Given the description of an element on the screen output the (x, y) to click on. 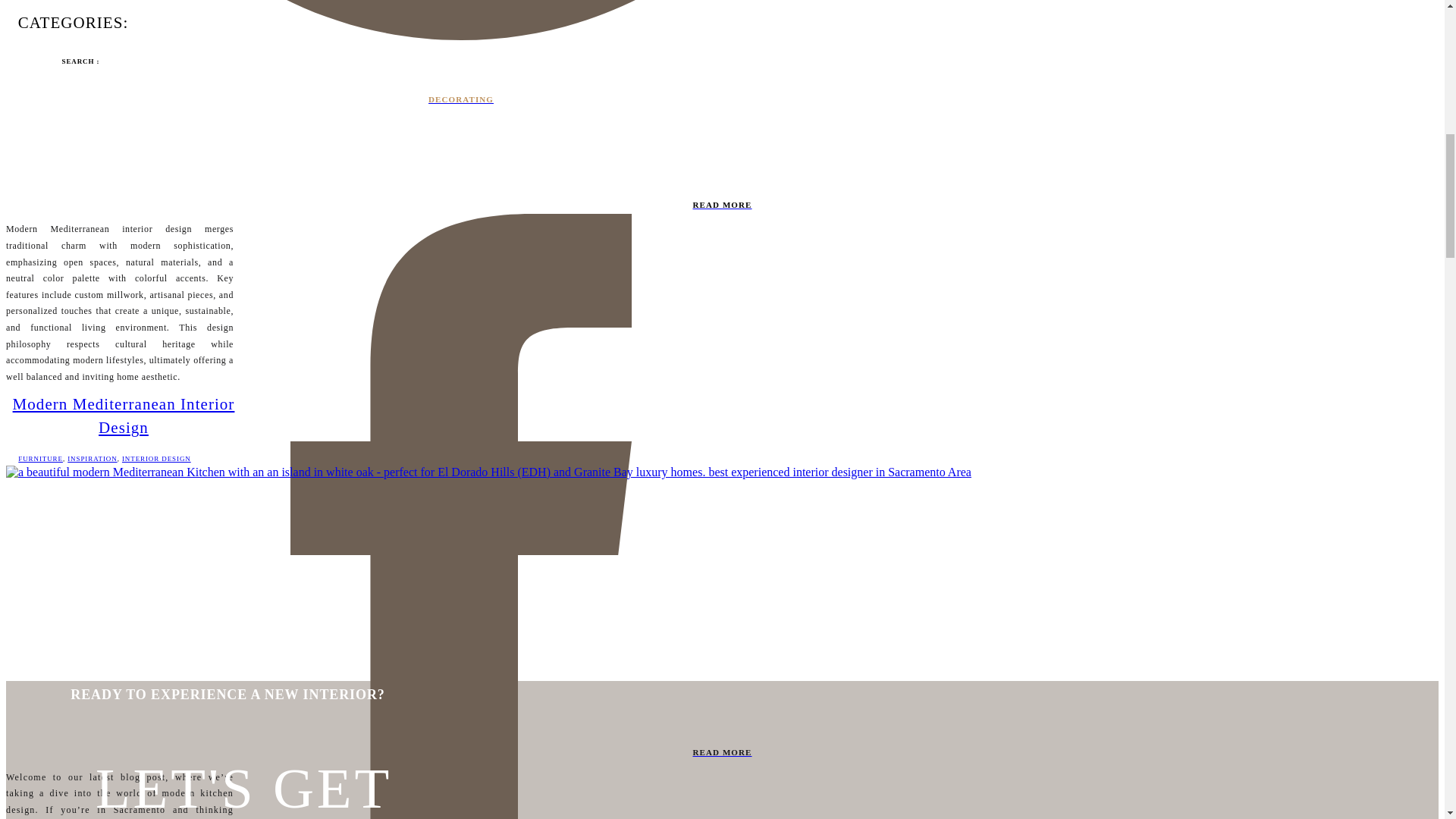
FURNITURE (39, 458)
INSPIRATION (91, 458)
Modern Mediterranean Interior Design (123, 415)
INTERIOR DESIGN (156, 458)
DECORATING (460, 99)
